Given the description of an element on the screen output the (x, y) to click on. 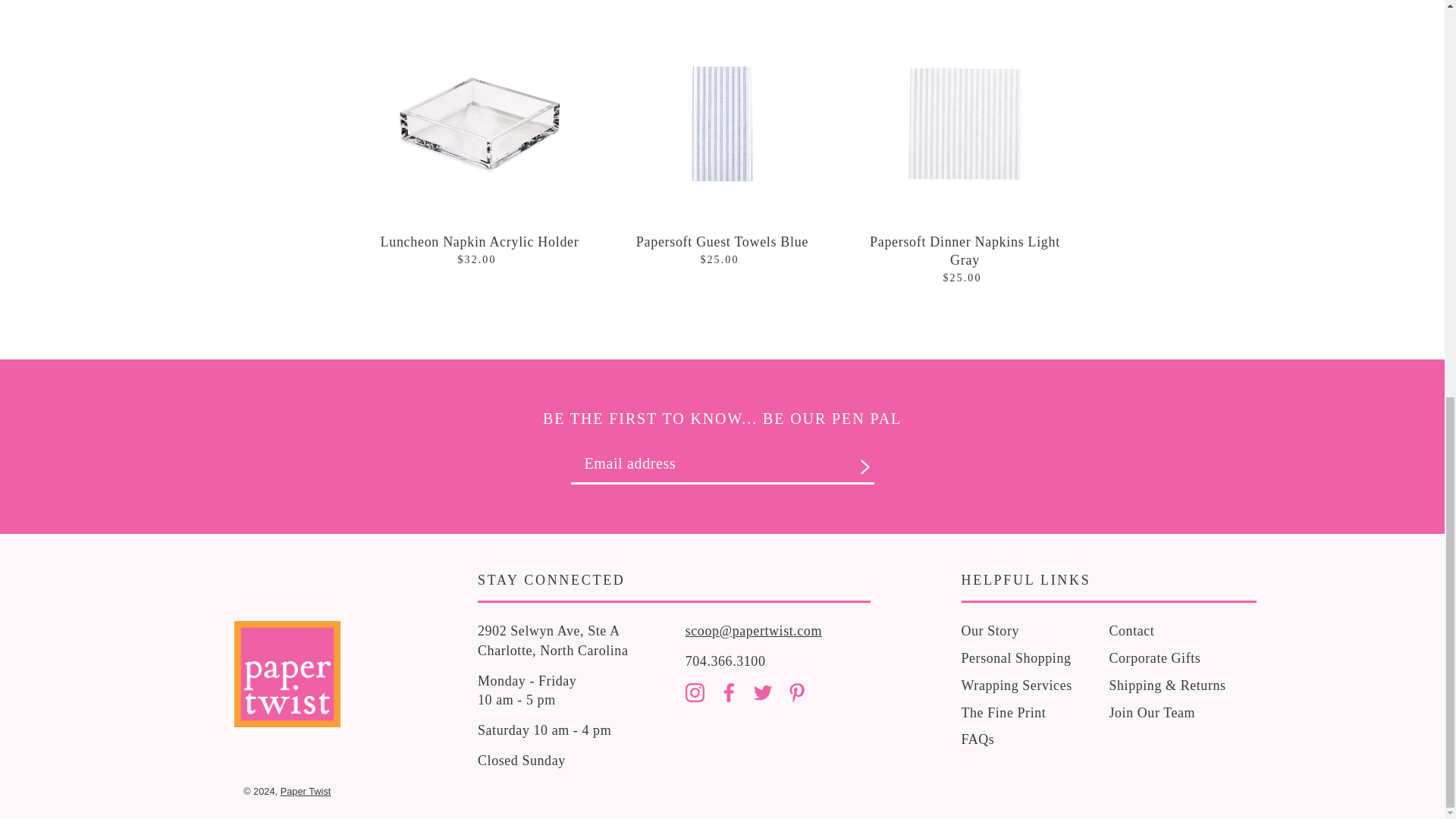
tel:704.366.3100 (725, 661)
